Given the description of an element on the screen output the (x, y) to click on. 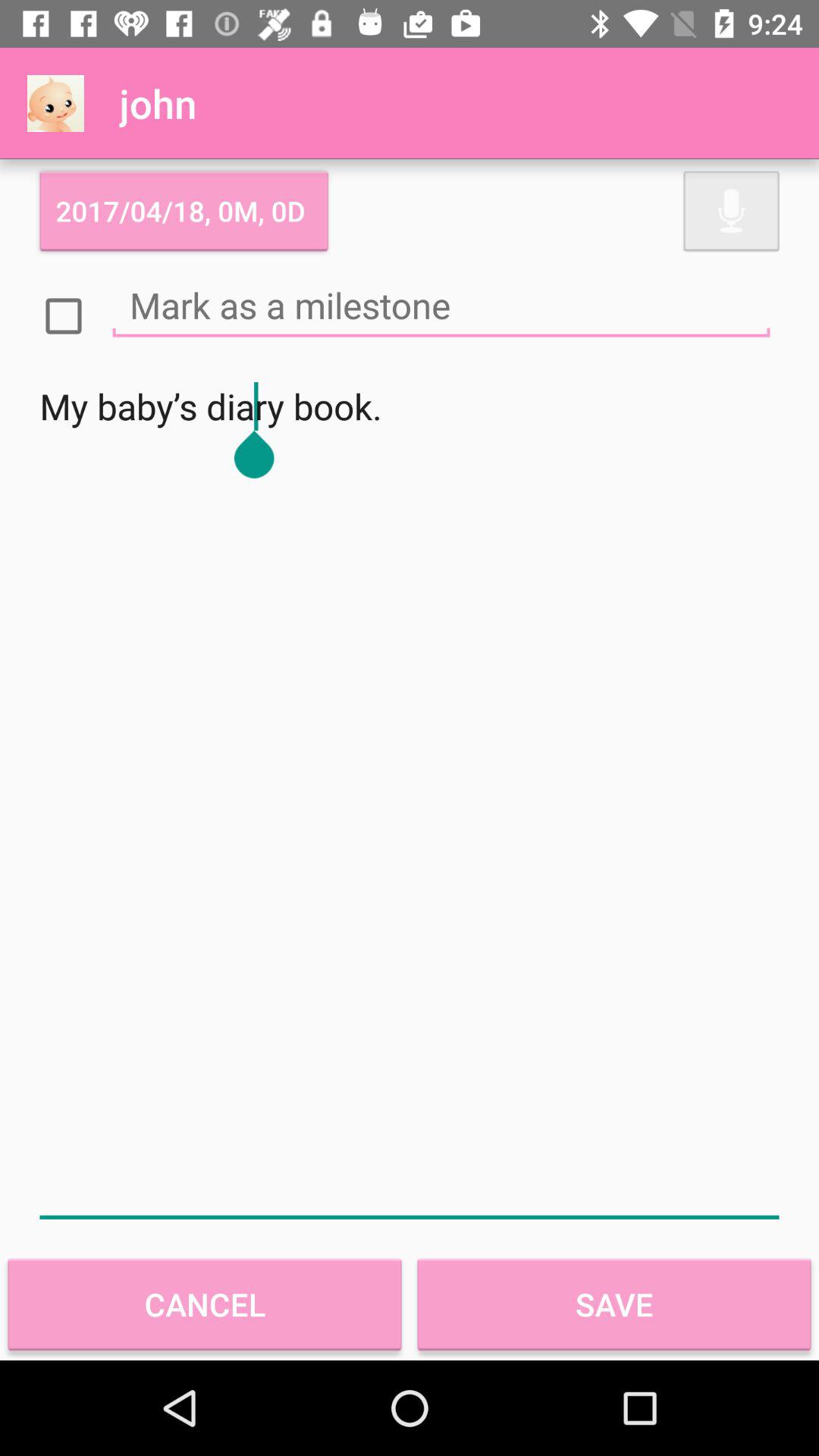
enabling voice command (731, 210)
